Given the description of an element on the screen output the (x, y) to click on. 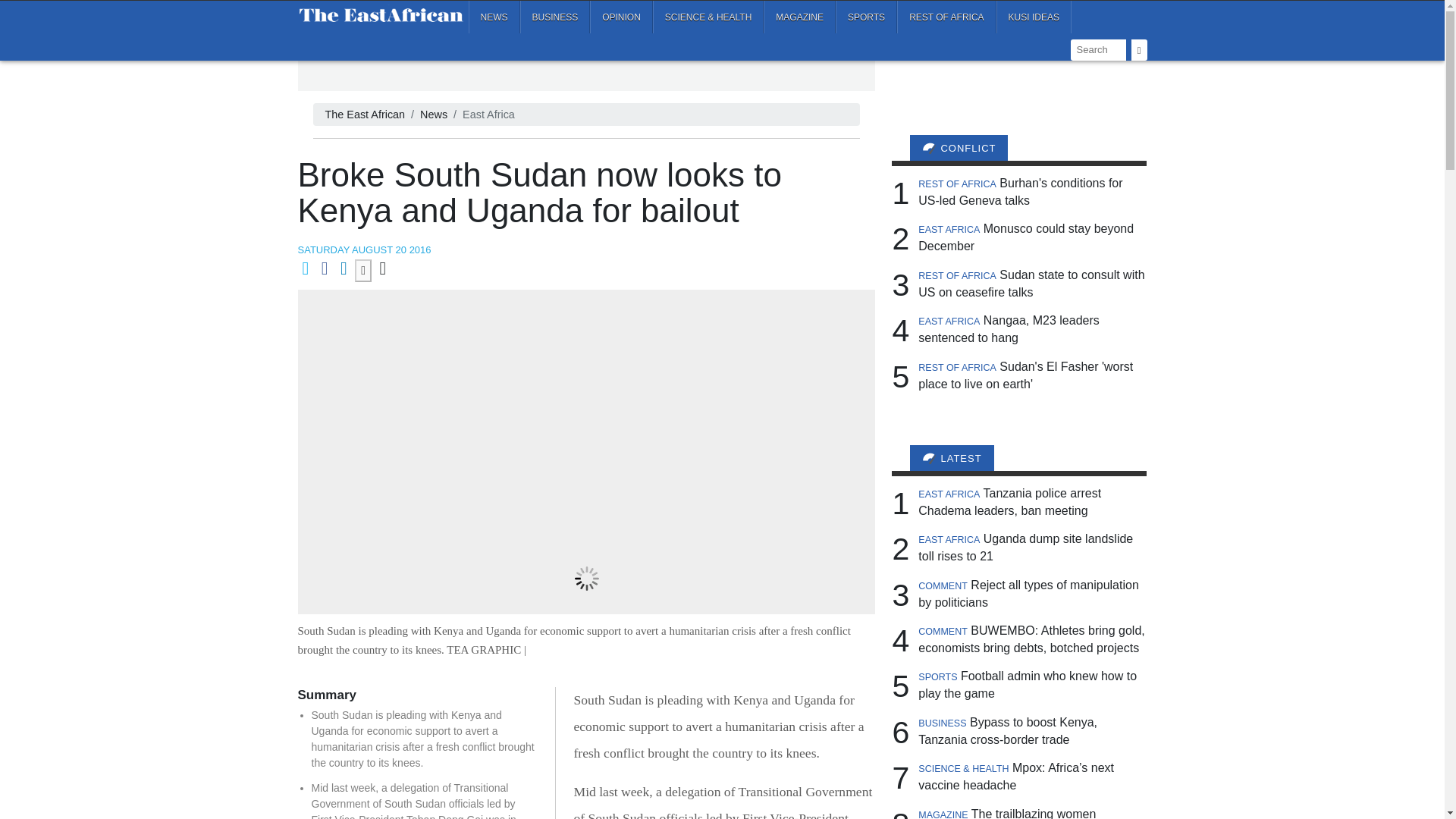
NEWS (493, 16)
BUSINESS (555, 16)
SPORTS (865, 16)
OPINION (620, 16)
MAGAZINE (798, 16)
